Given the description of an element on the screen output the (x, y) to click on. 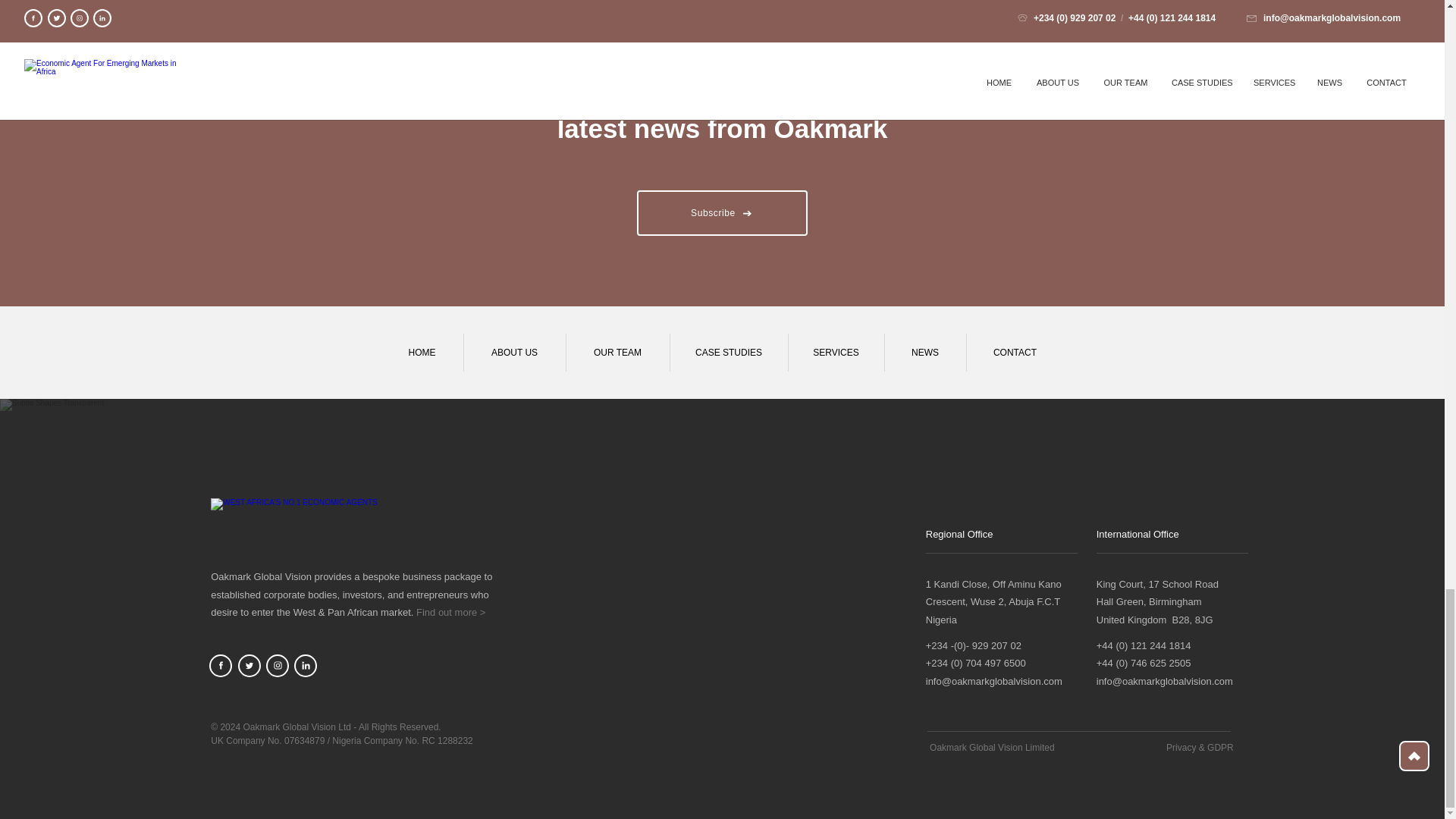
Subscribe (722, 212)
